Given the description of an element on the screen output the (x, y) to click on. 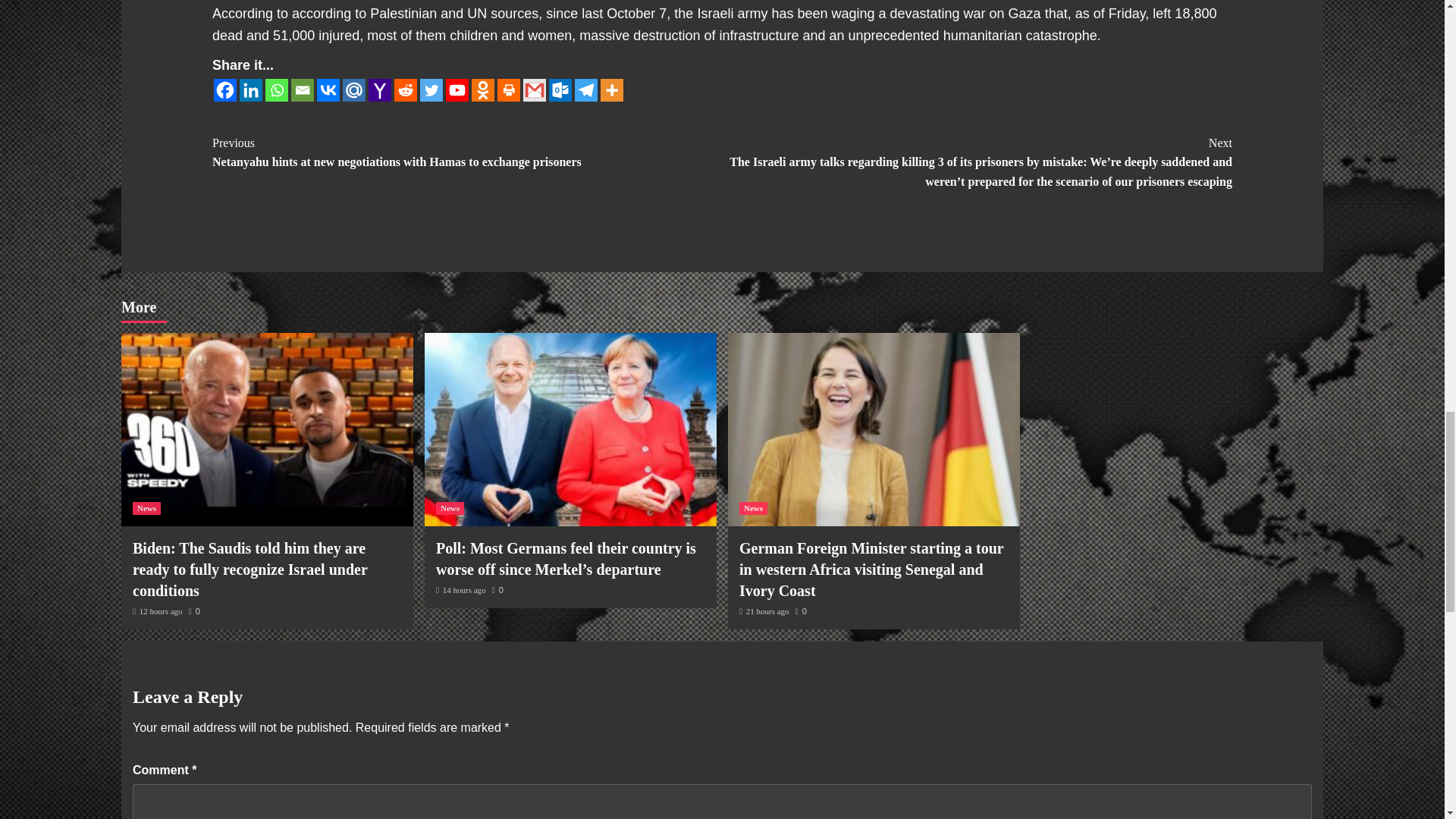
Twitter (431, 89)
Youtube (456, 89)
Vkontakte (328, 89)
Whatsapp (276, 89)
Mail.Ru (353, 89)
Print (508, 89)
Facebook (224, 89)
Reddit (405, 89)
Yahoo Mail (379, 89)
Email (302, 89)
Odnoklassniki (483, 89)
Linkedin (251, 89)
